Given the description of an element on the screen output the (x, y) to click on. 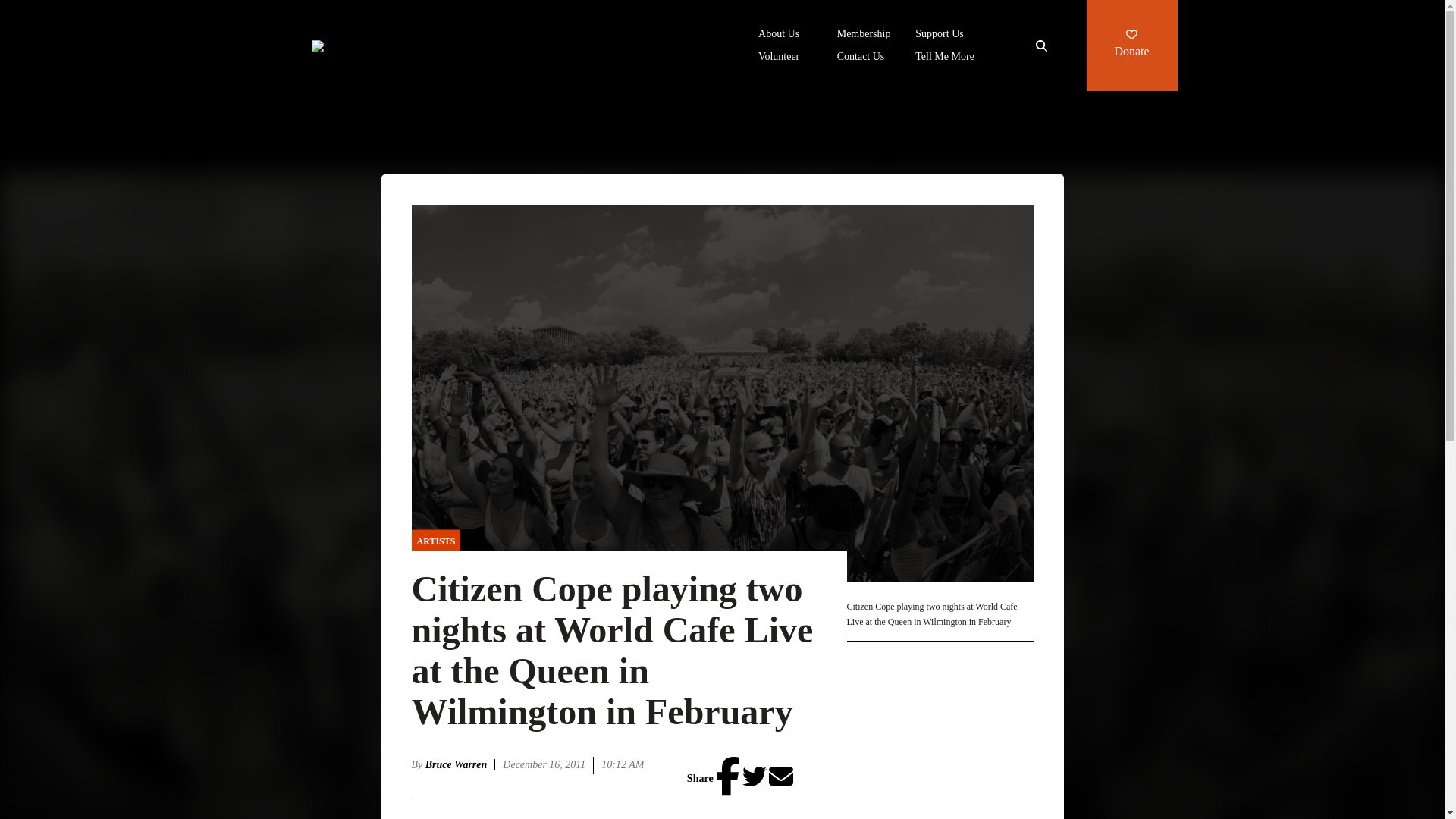
Donate (1131, 45)
Tell Me More (944, 57)
Contact Us (861, 57)
Support Us (938, 35)
Bruce Warren (460, 764)
Membership (864, 35)
Volunteer (778, 57)
About Us (778, 35)
